Given the description of an element on the screen output the (x, y) to click on. 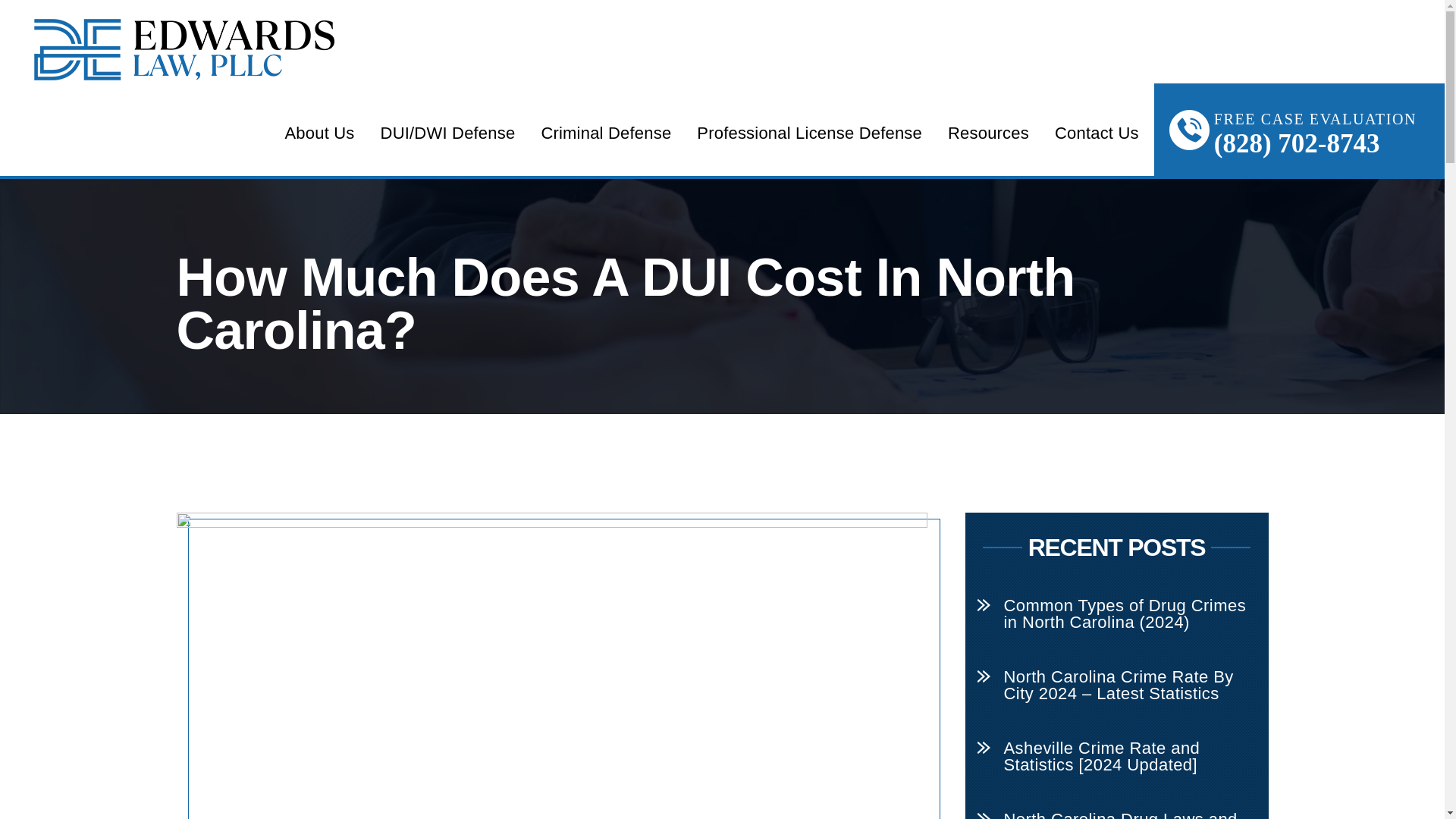
Resources (988, 132)
About Us (318, 132)
Professional License Defense (809, 132)
Criminal Defense (605, 132)
Contact Us (1096, 132)
